Given the description of an element on the screen output the (x, y) to click on. 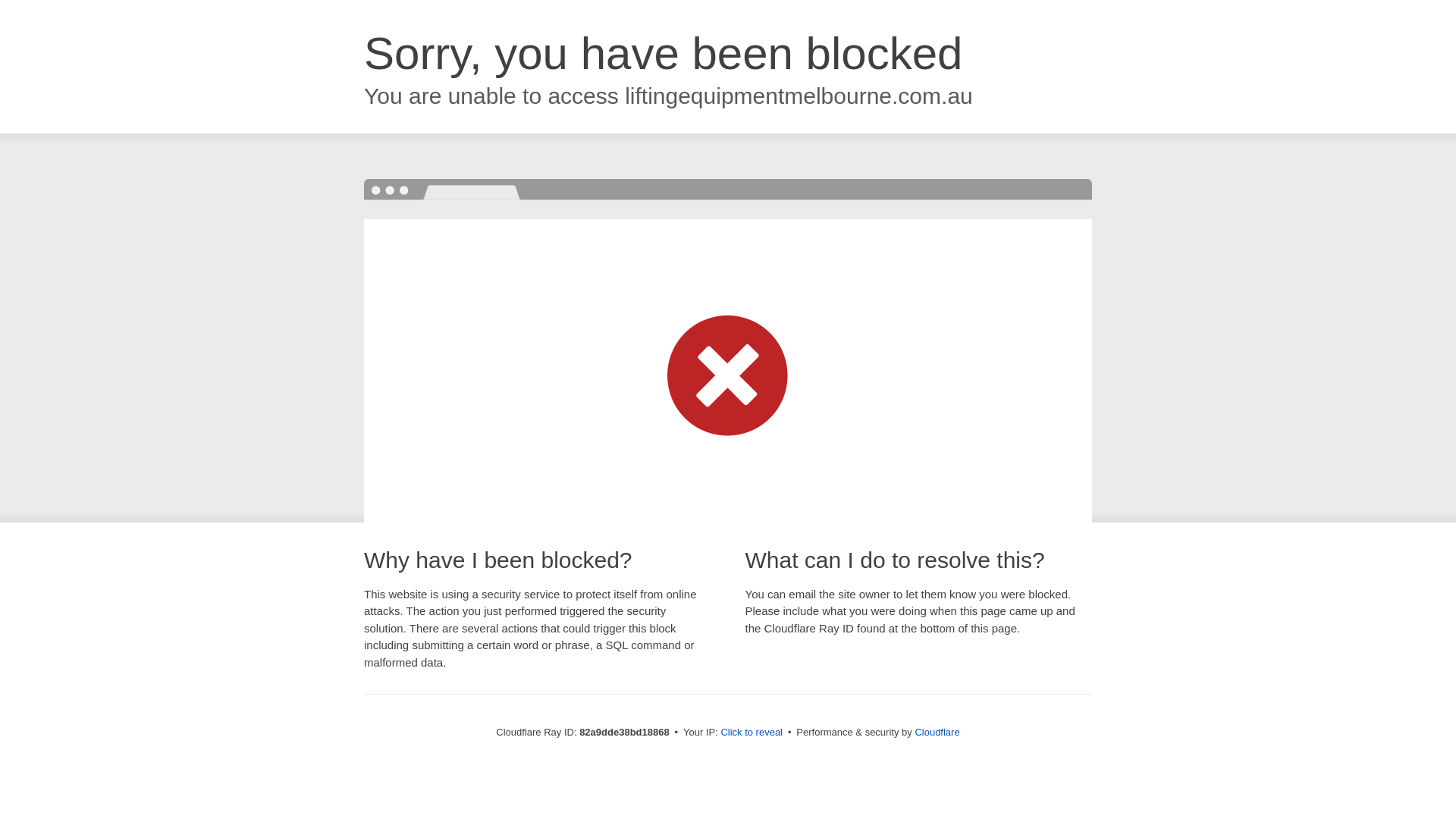
Cloudflare Element type: text (936, 731)
Click to reveal Element type: text (751, 732)
